Given the description of an element on the screen output the (x, y) to click on. 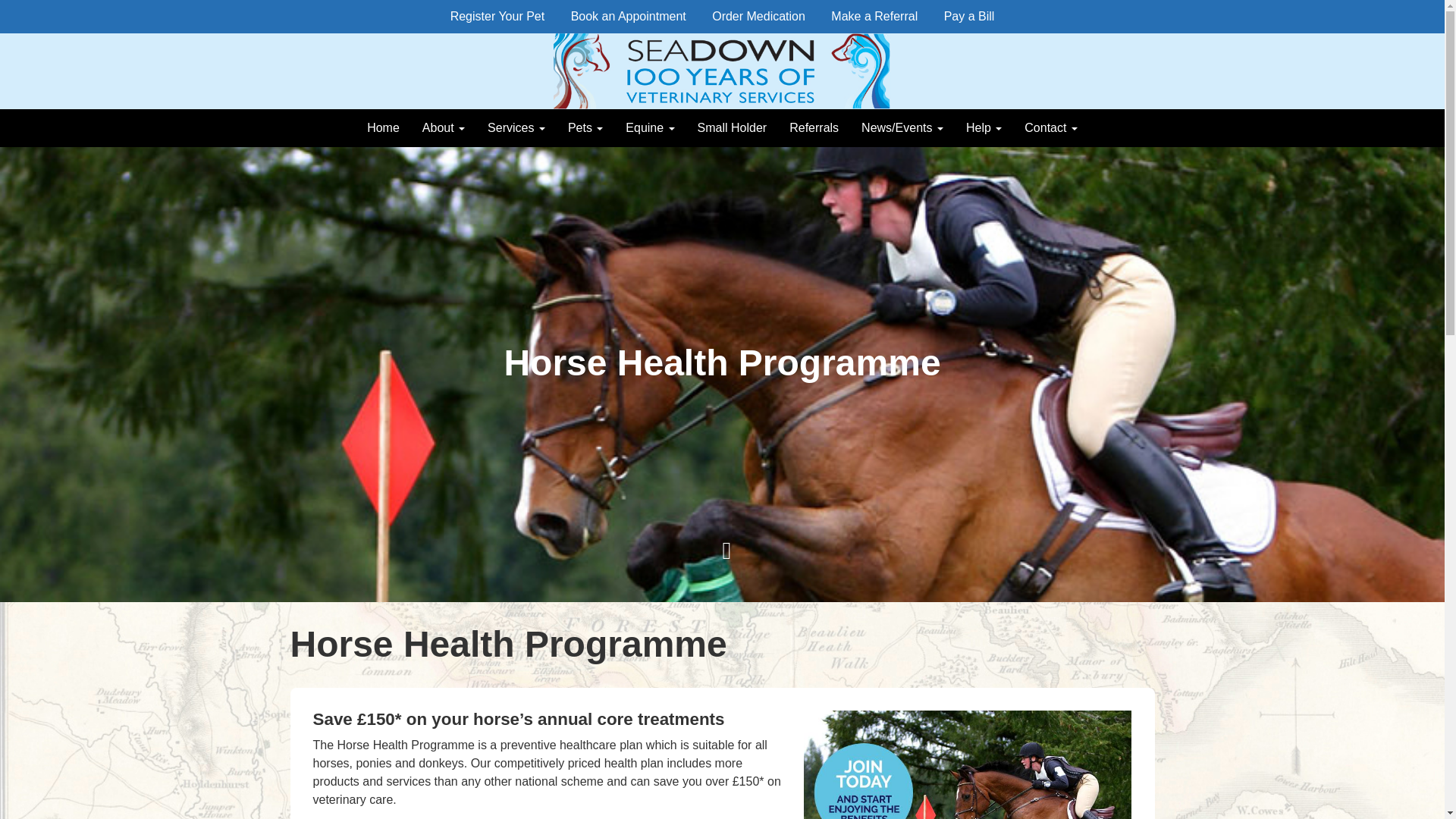
Equine (649, 127)
Help (984, 127)
Home (382, 127)
Pay a Bill (969, 16)
Make a Referral (873, 16)
Register Your Pet (497, 16)
Small Holder (731, 127)
Referrals (813, 127)
Book an Appointment (628, 16)
Order Medication (758, 16)
About (443, 127)
Services (516, 127)
Pets (585, 127)
